Given the description of an element on the screen output the (x, y) to click on. 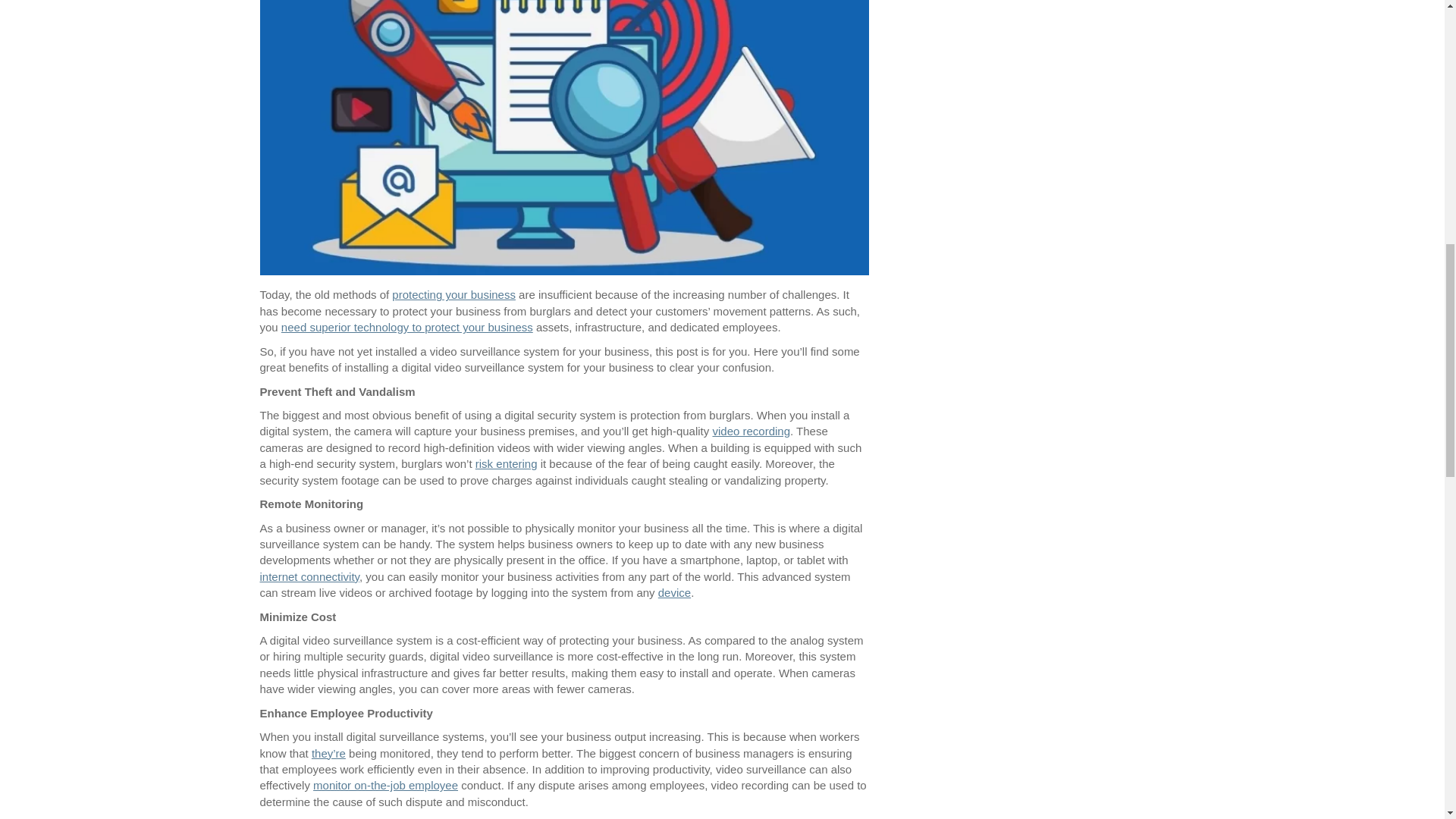
device (674, 592)
need superior technology to protect your business (406, 327)
risk entering (506, 463)
internet connectivity (308, 576)
protecting your business (453, 294)
video recording (750, 431)
monitor on-the-job employee (385, 784)
